Given the description of an element on the screen output the (x, y) to click on. 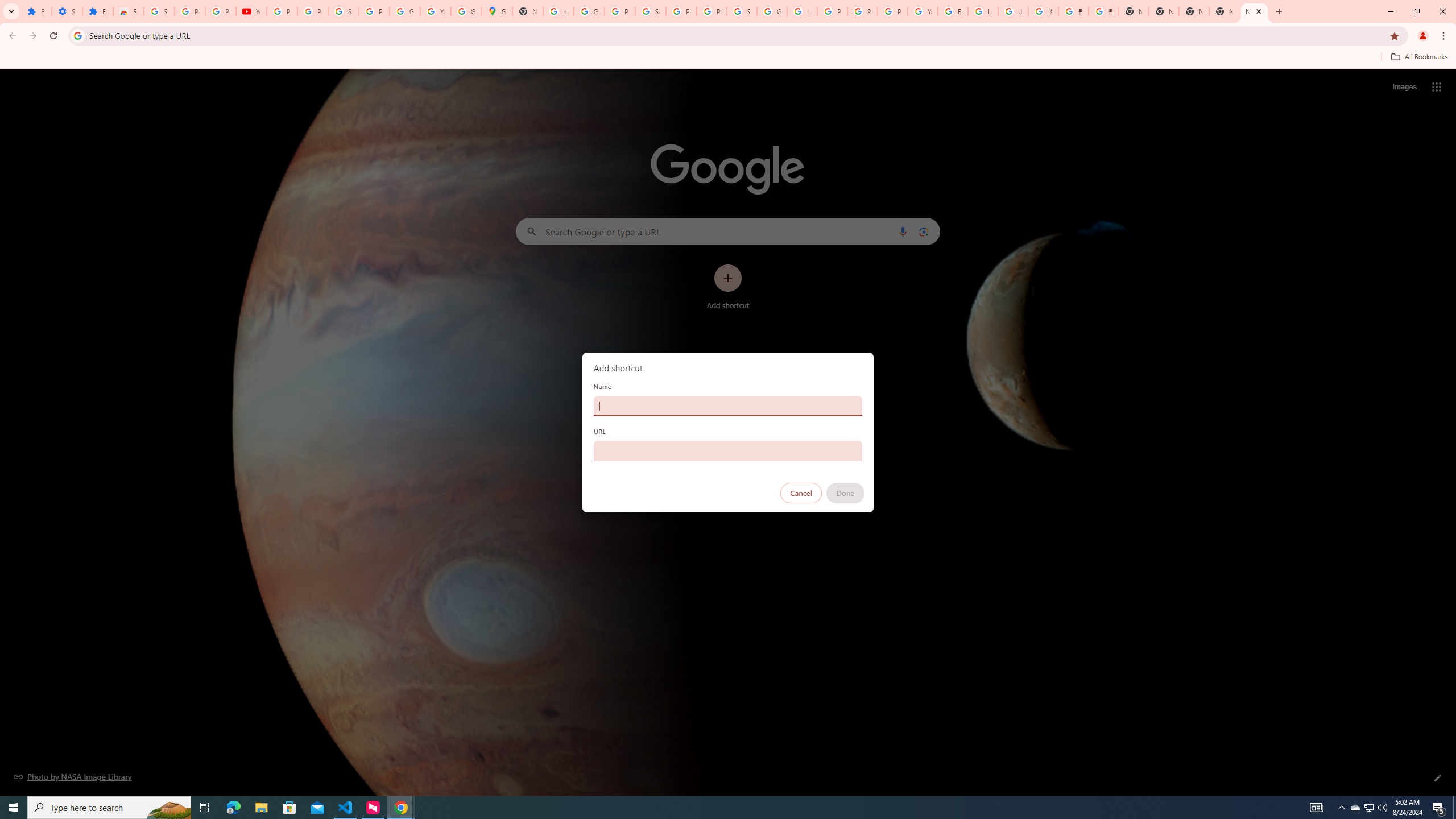
Google Account (404, 11)
Extensions (36, 11)
Sign in - Google Accounts (343, 11)
